Given the description of an element on the screen output the (x, y) to click on. 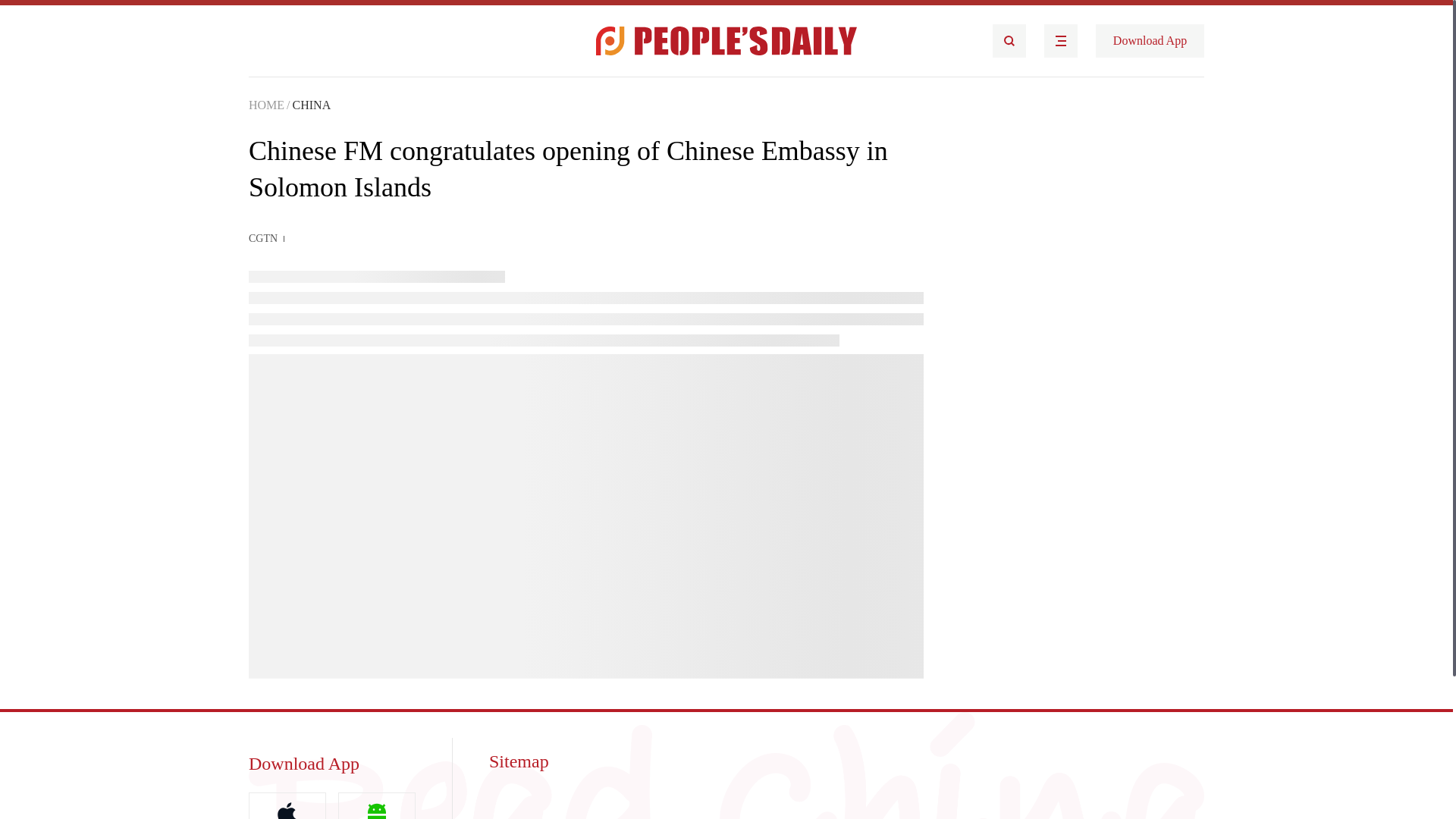
Download App (1150, 40)
HOME (265, 105)
